Given the description of an element on the screen output the (x, y) to click on. 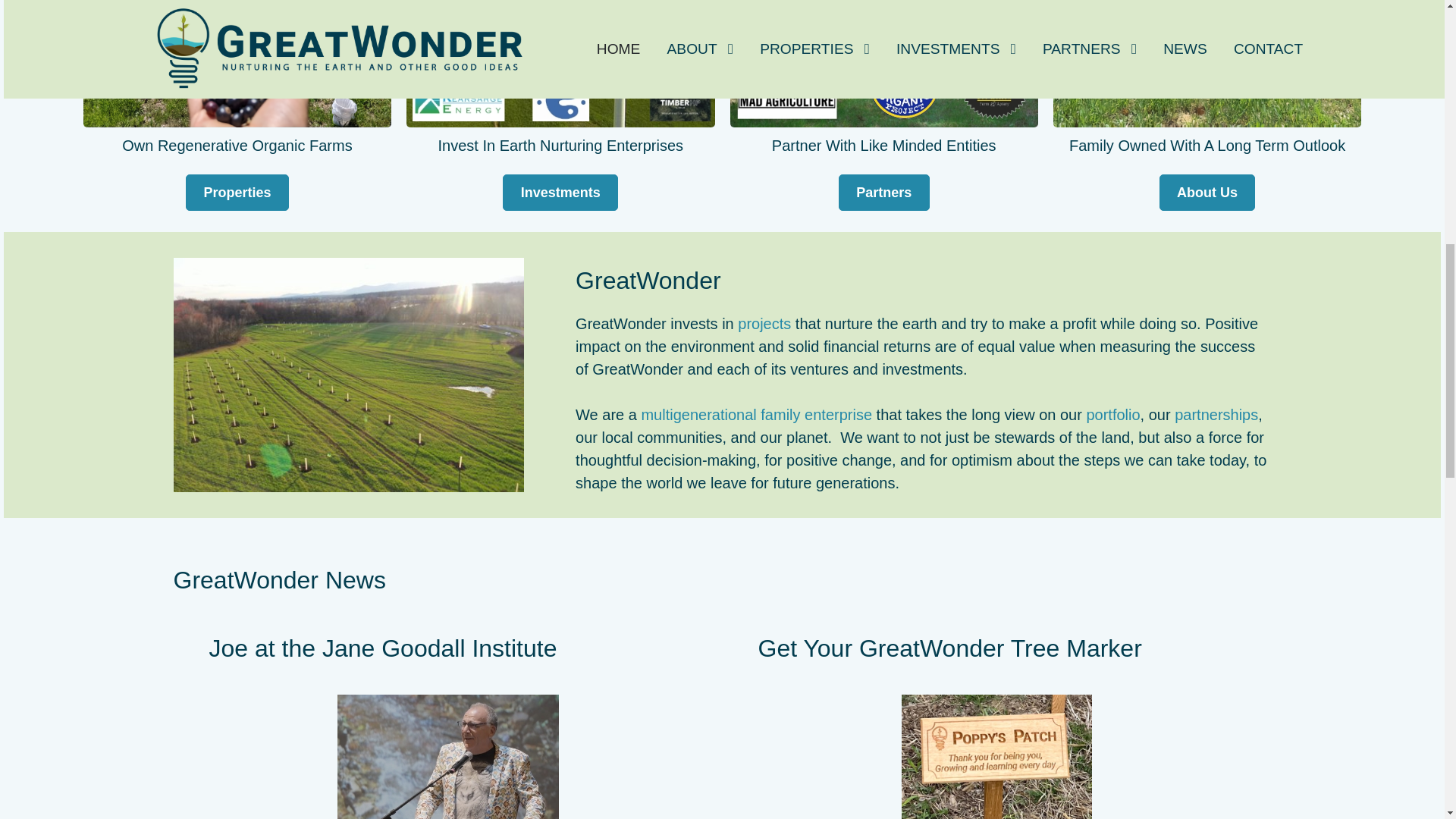
GreatWonder (348, 373)
